Given the description of an element on the screen output the (x, y) to click on. 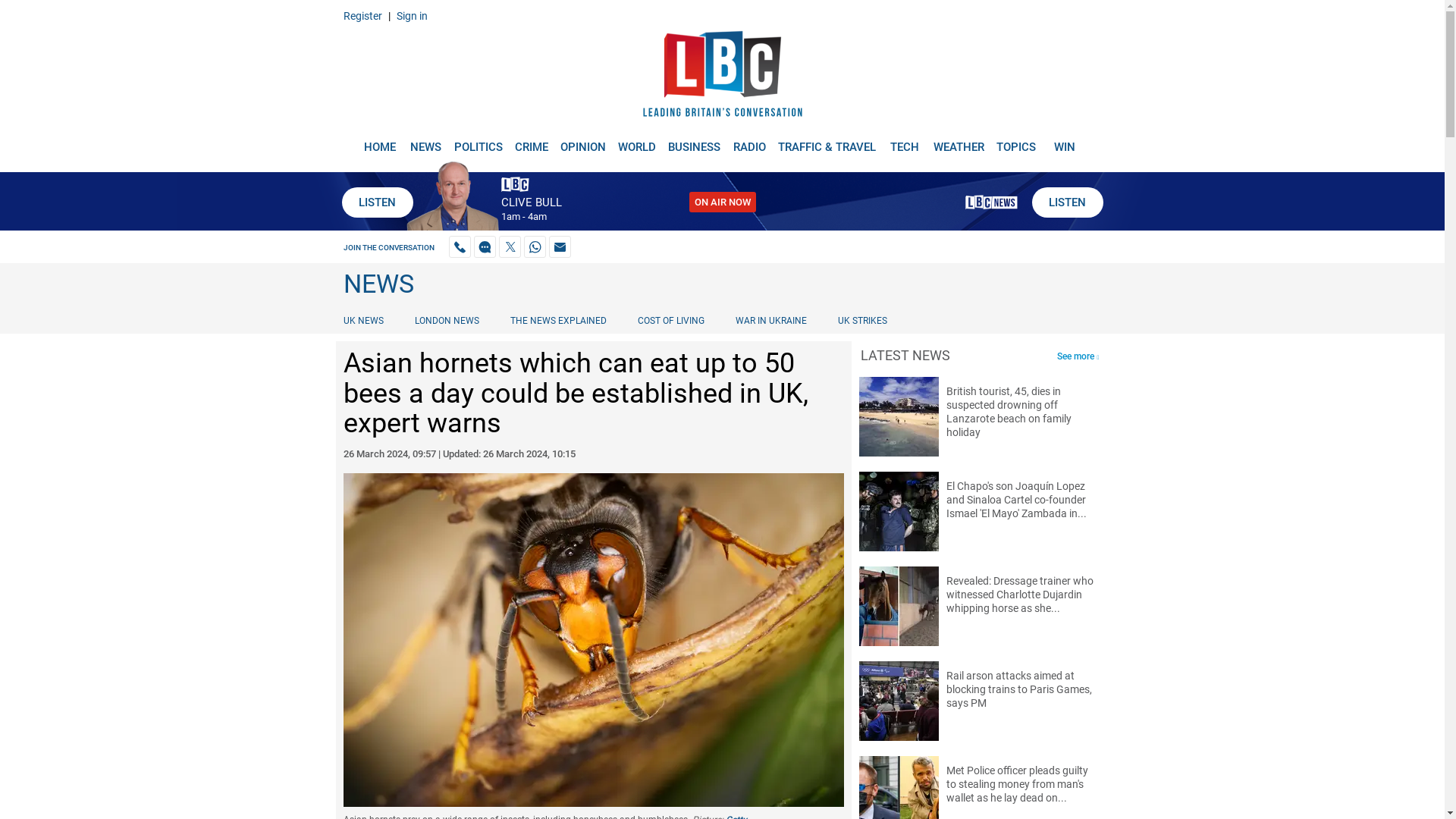
WEATHER (958, 140)
LONDON NEWS (446, 320)
OPINION (582, 140)
Sign in (411, 15)
POLITICS (478, 140)
UK STRIKES (862, 320)
UK NEWS (365, 320)
LISTEN (1066, 202)
WIN (1064, 140)
WORLD (636, 140)
LBC (722, 77)
TOPICS (1016, 140)
CLIVE BULL (530, 202)
THE NEWS EXPLAINED (558, 320)
Register (361, 15)
